Given the description of an element on the screen output the (x, y) to click on. 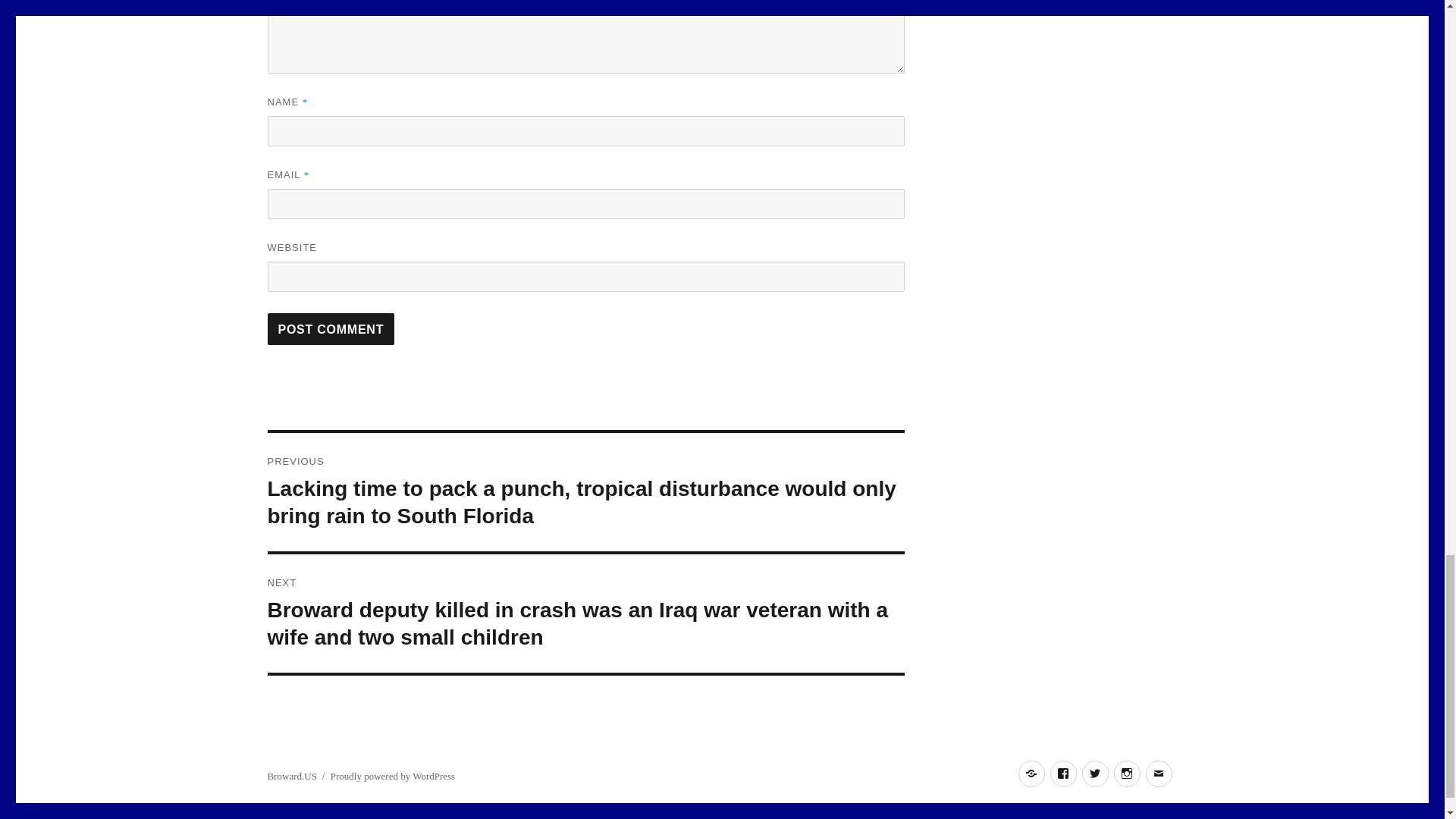
Post Comment (330, 328)
Post Comment (330, 328)
